Given the description of an element on the screen output the (x, y) to click on. 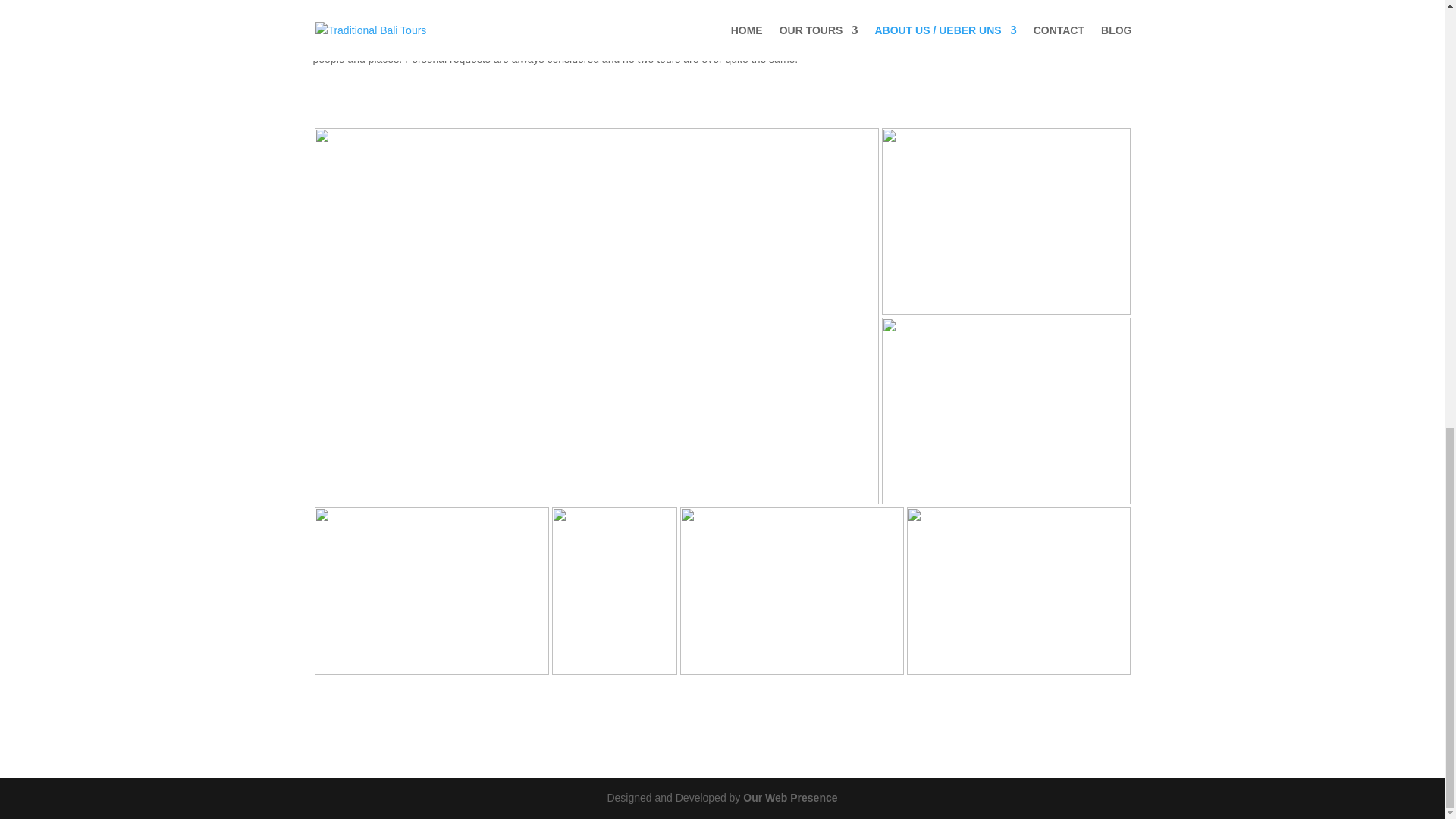
about us page (431, 590)
Our Web Presence (789, 797)
Fun in a river (790, 590)
Tradtional Bali TOurs (1004, 410)
Puru Pasar Agung (1019, 590)
BOOK NOW (947, 15)
